Given the description of an element on the screen output the (x, y) to click on. 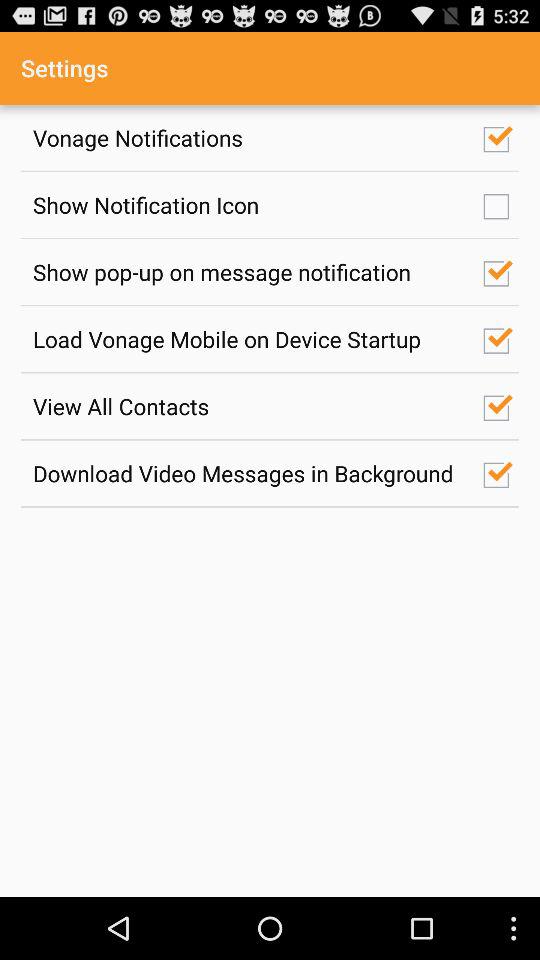
choose the icon below show pop up item (247, 338)
